Given the description of an element on the screen output the (x, y) to click on. 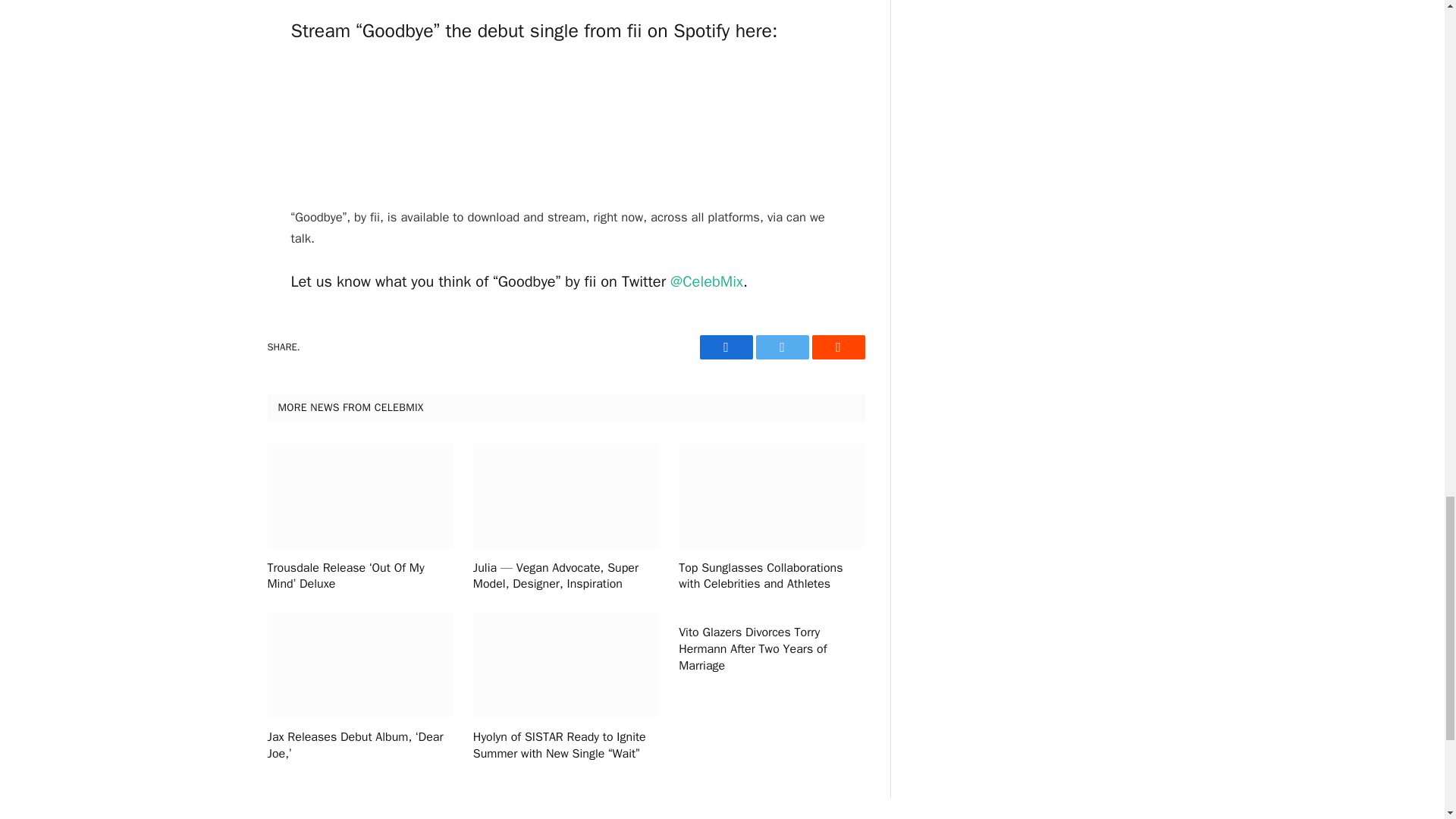
Facebook (725, 346)
Reddit (837, 346)
Spotify Embed: Goodbye (566, 125)
Twitter (781, 346)
Top Sunglasses Collaborations with Celebrities and Athletes (771, 576)
